Given the description of an element on the screen output the (x, y) to click on. 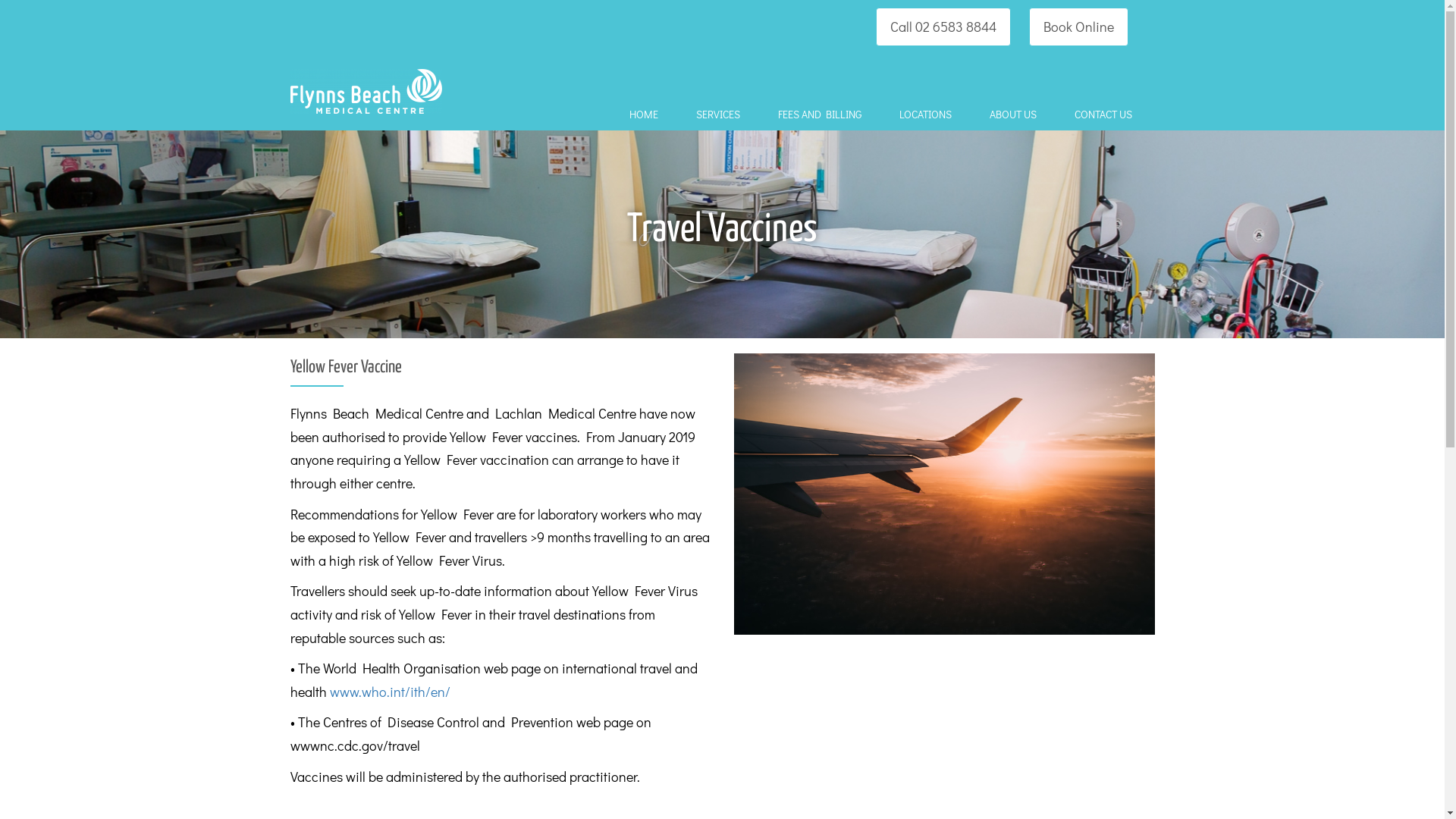
SERVICES Element type: text (721, 115)
www.who.int/ith/en/  Element type: text (390, 691)
CONTACT US Element type: text (1106, 115)
ABOUT US Element type: text (1015, 115)
Call 02 6583 8844 Element type: text (942, 26)
FEES AND BILLING Element type: text (823, 115)
LOCATIONS Element type: text (929, 115)
Book Online Element type: text (1077, 26)
HOME Element type: text (647, 115)
